Given the description of an element on the screen output the (x, y) to click on. 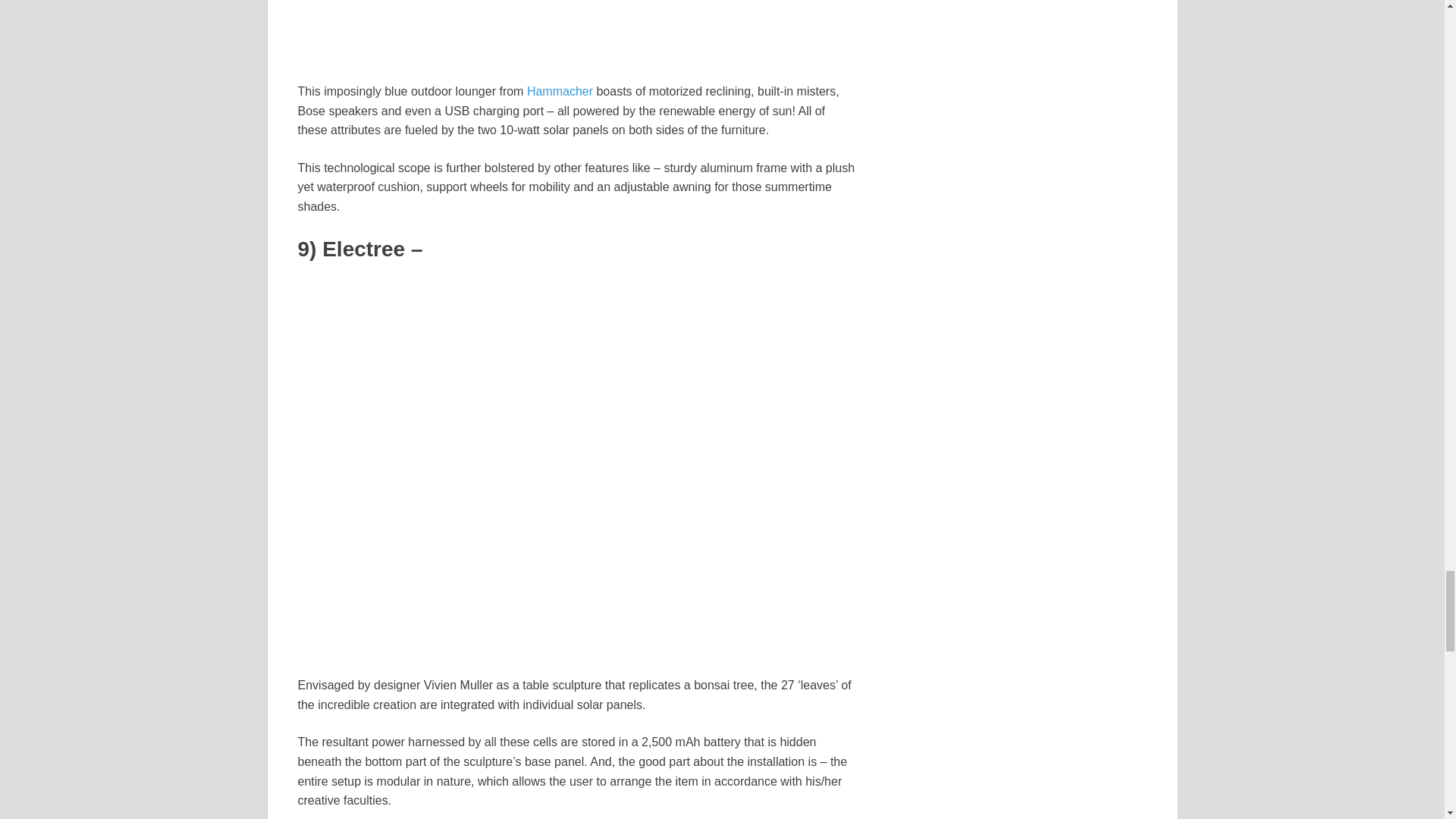
Hammacher (559, 91)
